Given the description of an element on the screen output the (x, y) to click on. 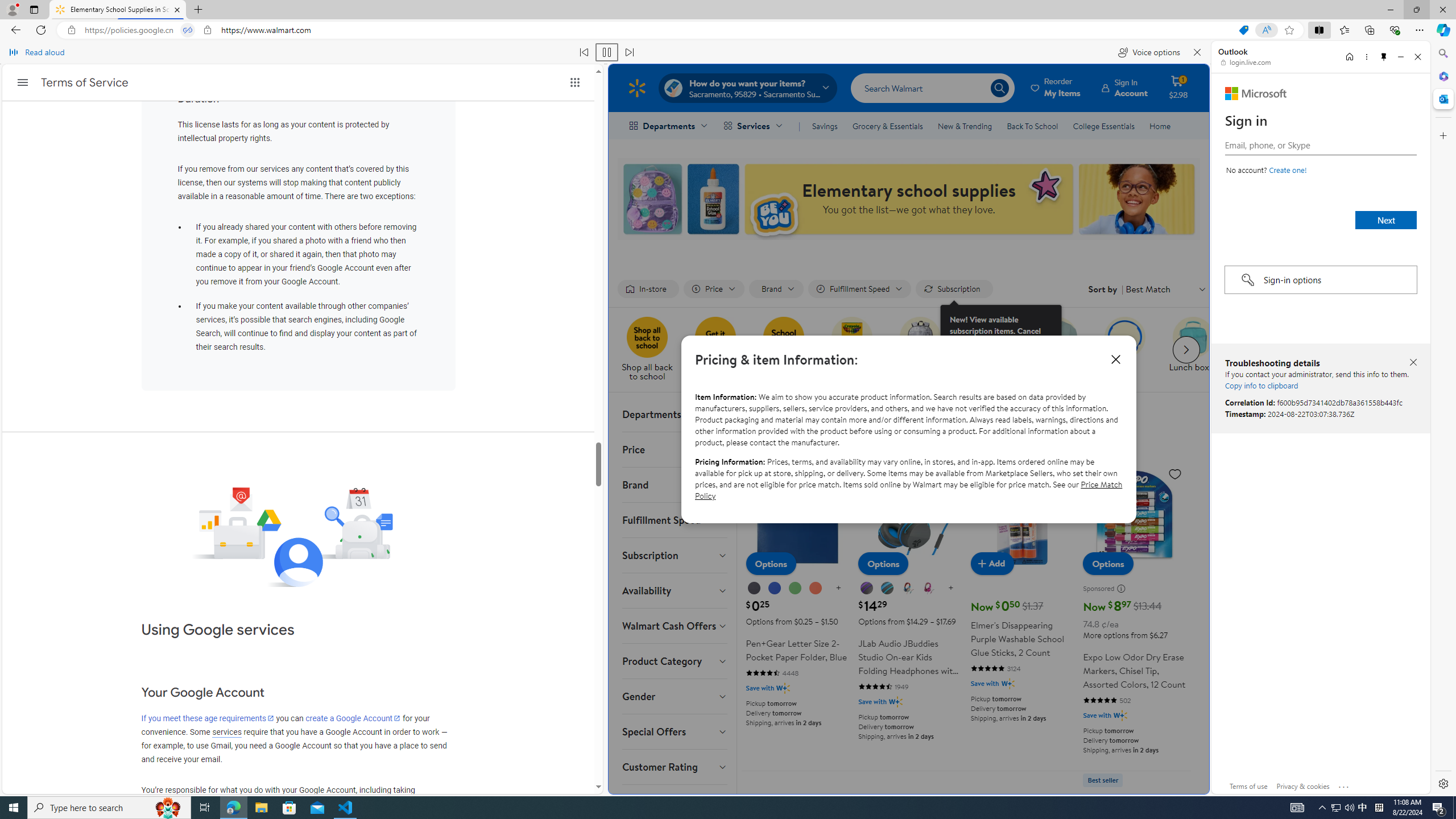
Close read aloud (1196, 52)
Click here for troubleshooting information (1344, 784)
Price Match Policy (908, 489)
Next (1385, 220)
